Given the description of an element on the screen output the (x, y) to click on. 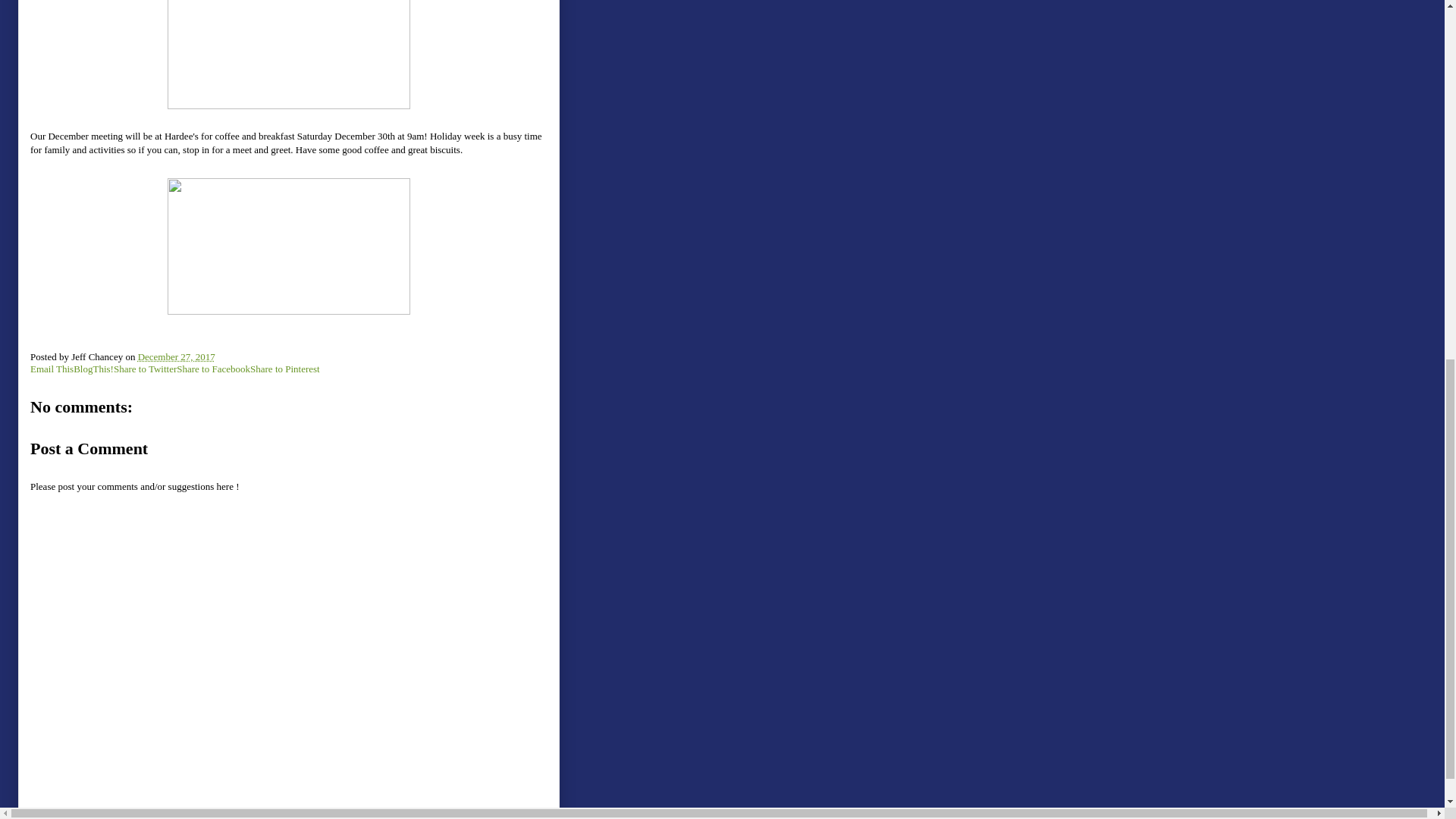
BlogThis! (93, 368)
Share to Twitter (144, 368)
Share to Twitter (144, 368)
Share to Facebook (213, 368)
Email This (52, 368)
Email Post (223, 356)
permanent link (176, 356)
December 27, 2017 (176, 356)
Share to Pinterest (285, 368)
Share to Pinterest (285, 368)
Share to Facebook (213, 368)
BlogThis! (93, 368)
Email This (52, 368)
